Given the description of an element on the screen output the (x, y) to click on. 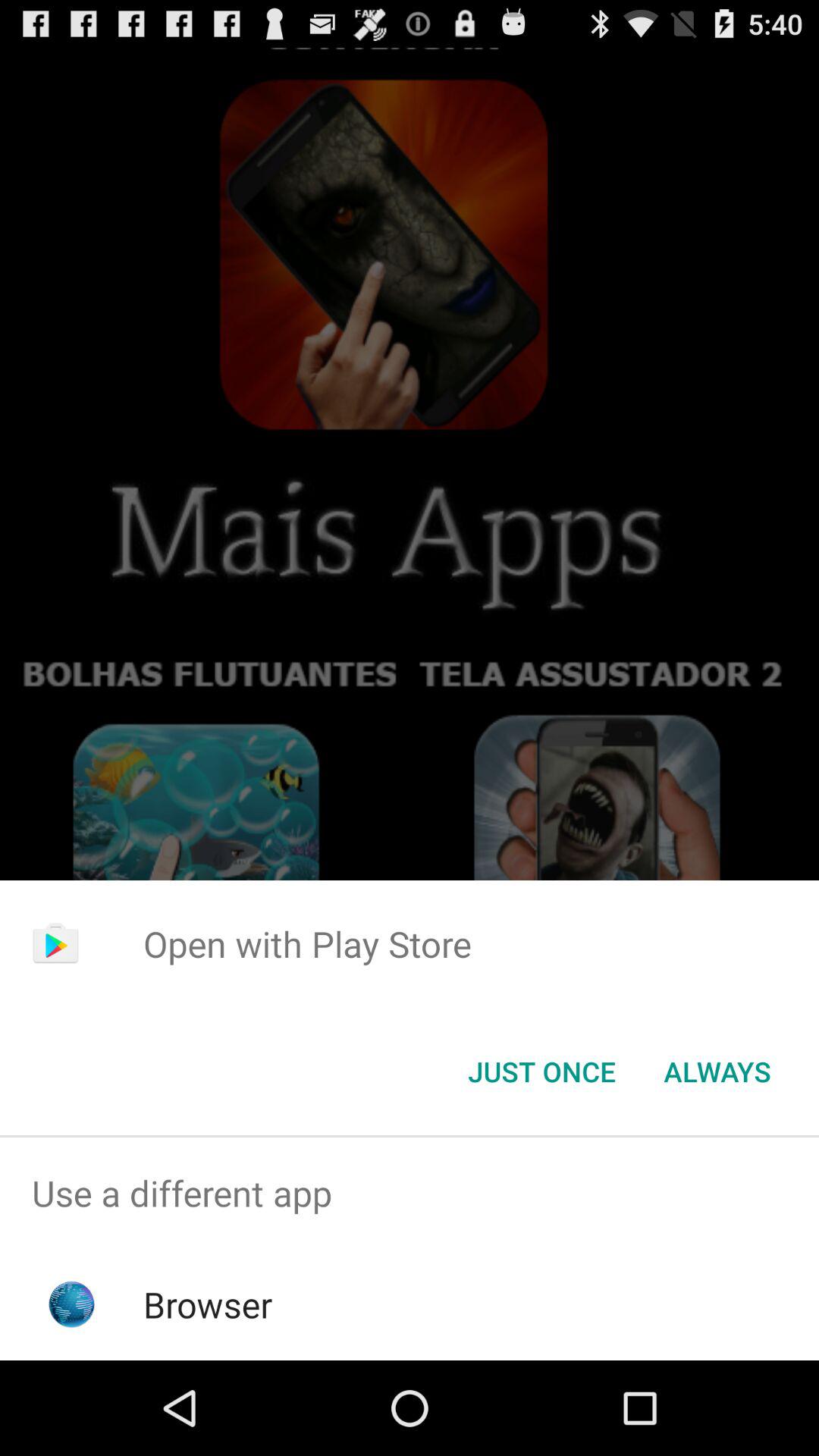
open icon next to the just once button (717, 1071)
